Given the description of an element on the screen output the (x, y) to click on. 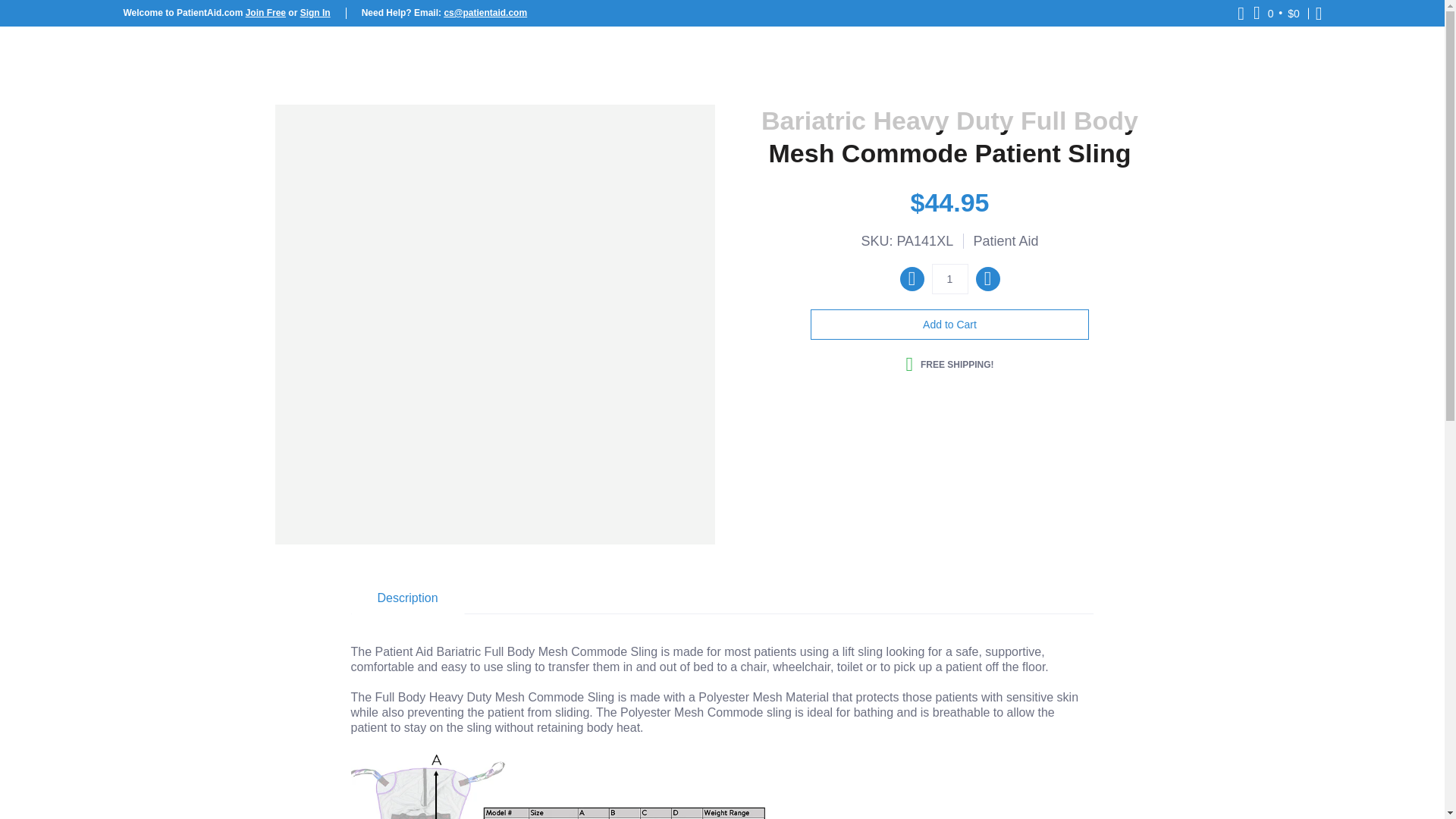
1 (949, 278)
Cart (1276, 13)
Add to Cart (949, 324)
Sign In (314, 12)
Join Free (265, 12)
